Given the description of an element on the screen output the (x, y) to click on. 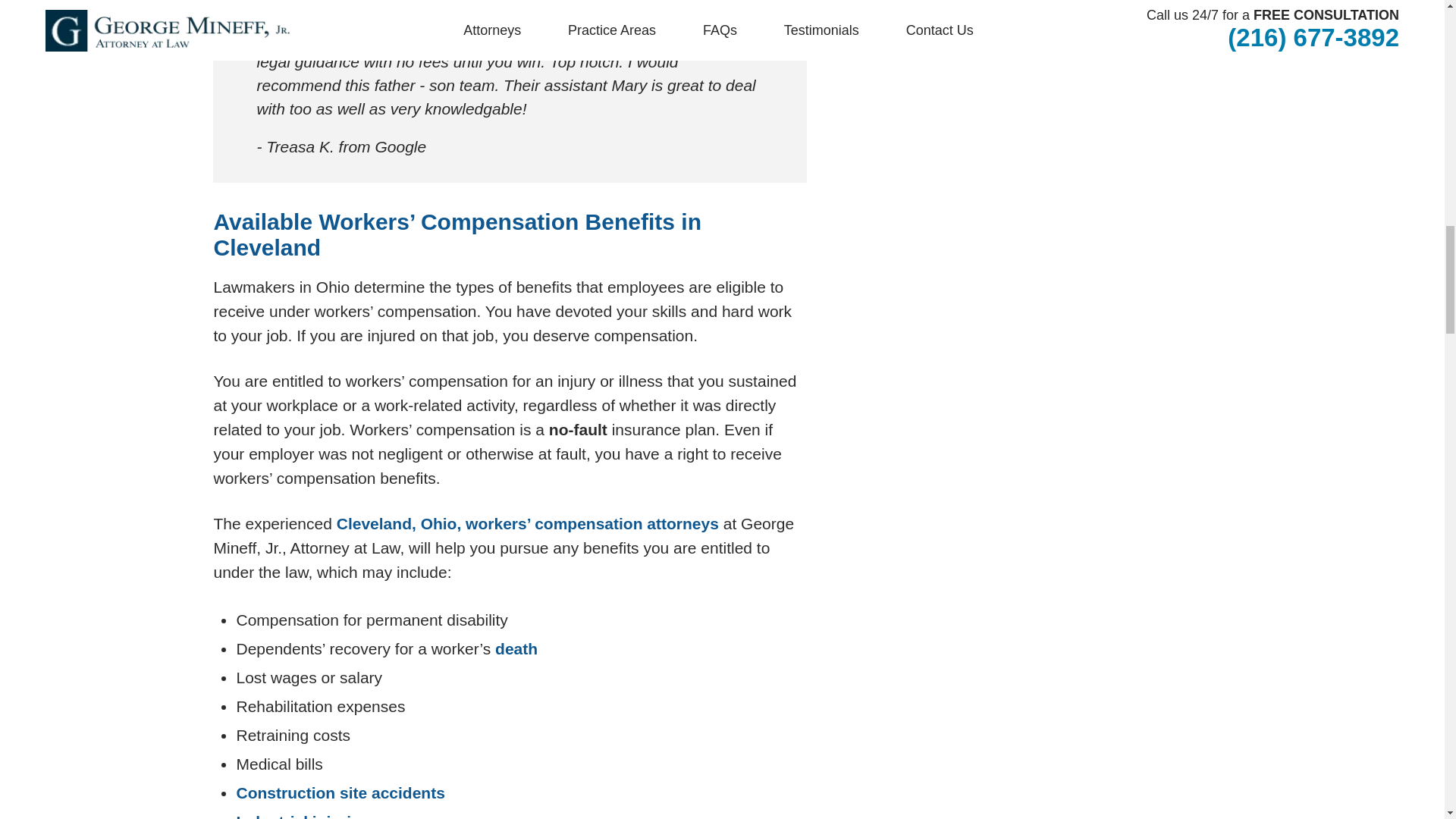
death (516, 648)
Construction site accidents (339, 792)
Industrial injuries (301, 816)
